Given the description of an element on the screen output the (x, y) to click on. 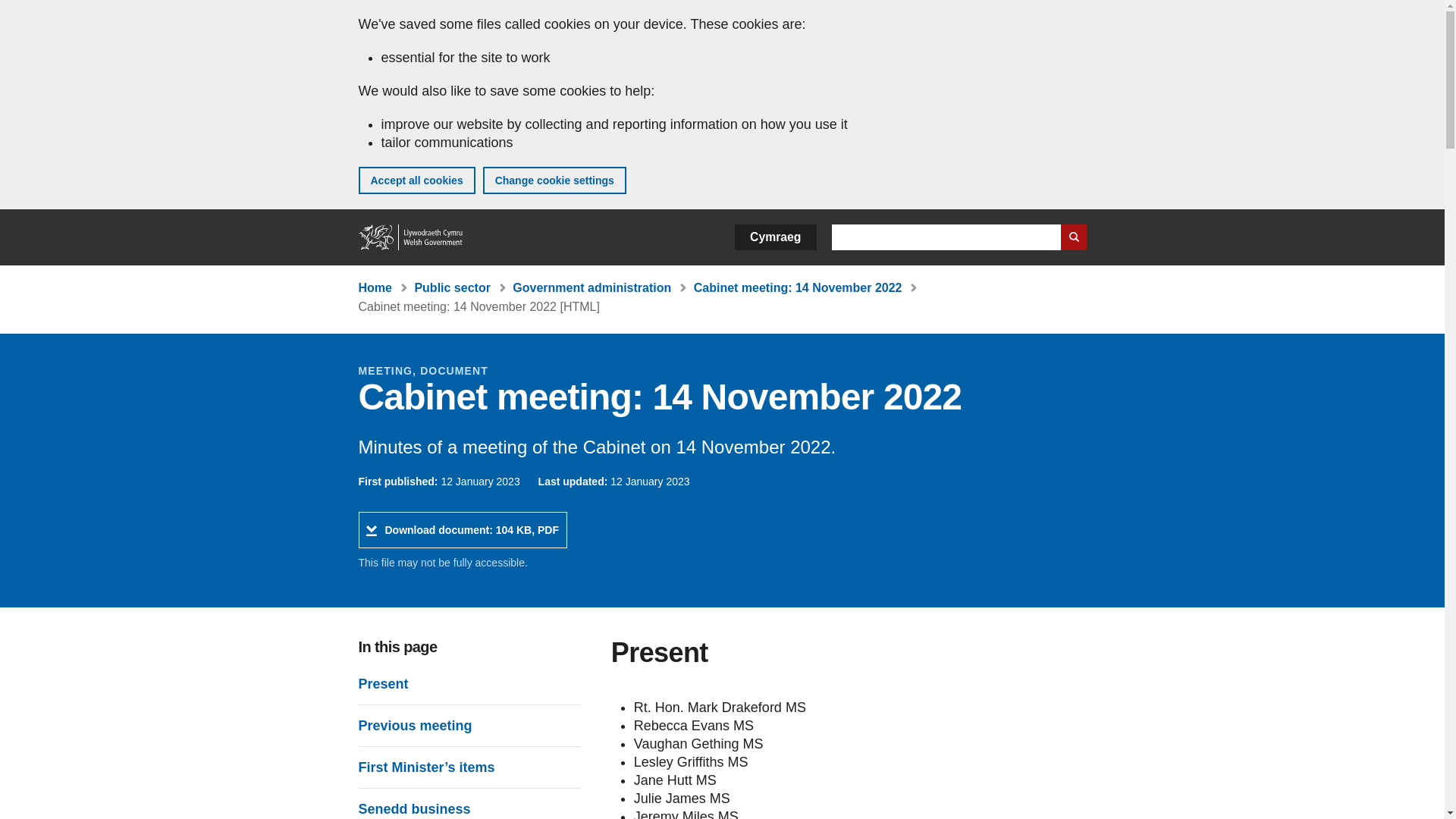
Cymraeg (775, 237)
Accept all cookies (416, 180)
Skip to main content (22, 11)
Welsh Government (411, 237)
Home (374, 287)
Cabinet meeting: 14 November 2022 (798, 287)
Search website (1072, 237)
Senedd business (414, 809)
Previous meeting (414, 725)
Change cookie settings (554, 180)
Present (382, 683)
Home (411, 237)
Search website (1072, 237)
